Given the description of an element on the screen output the (x, y) to click on. 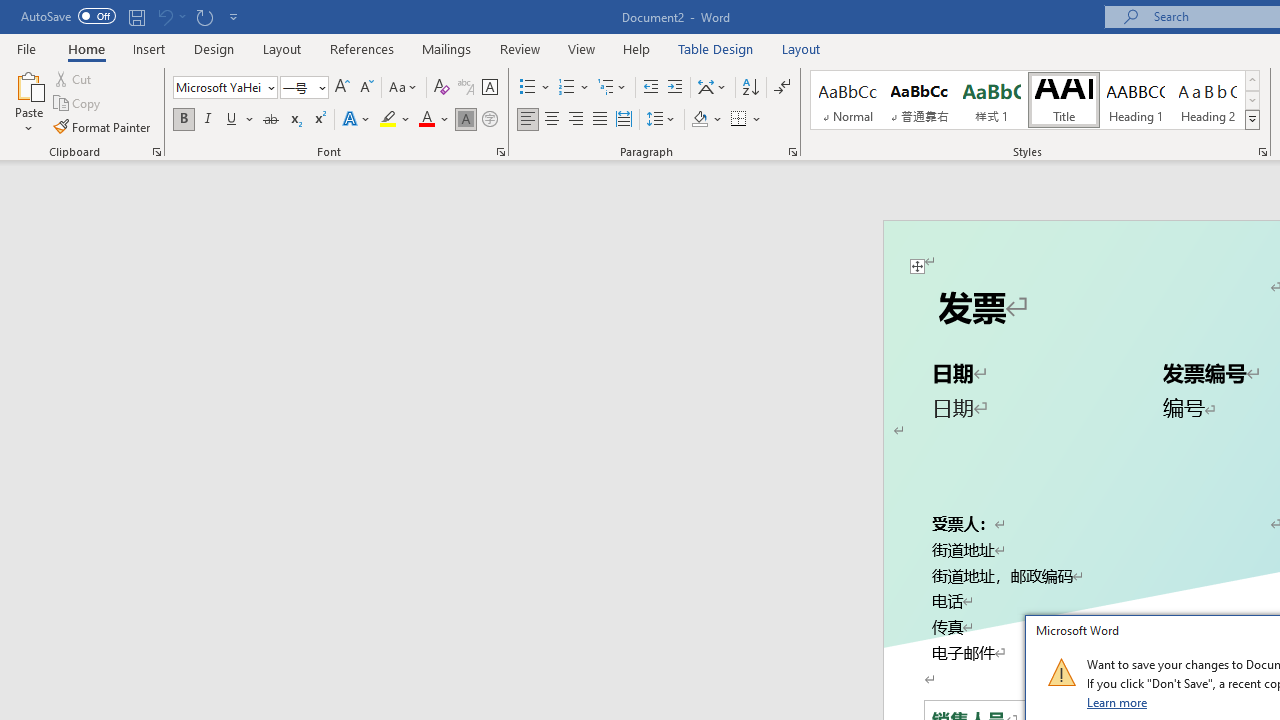
Learn more (1118, 702)
